Given the description of an element on the screen output the (x, y) to click on. 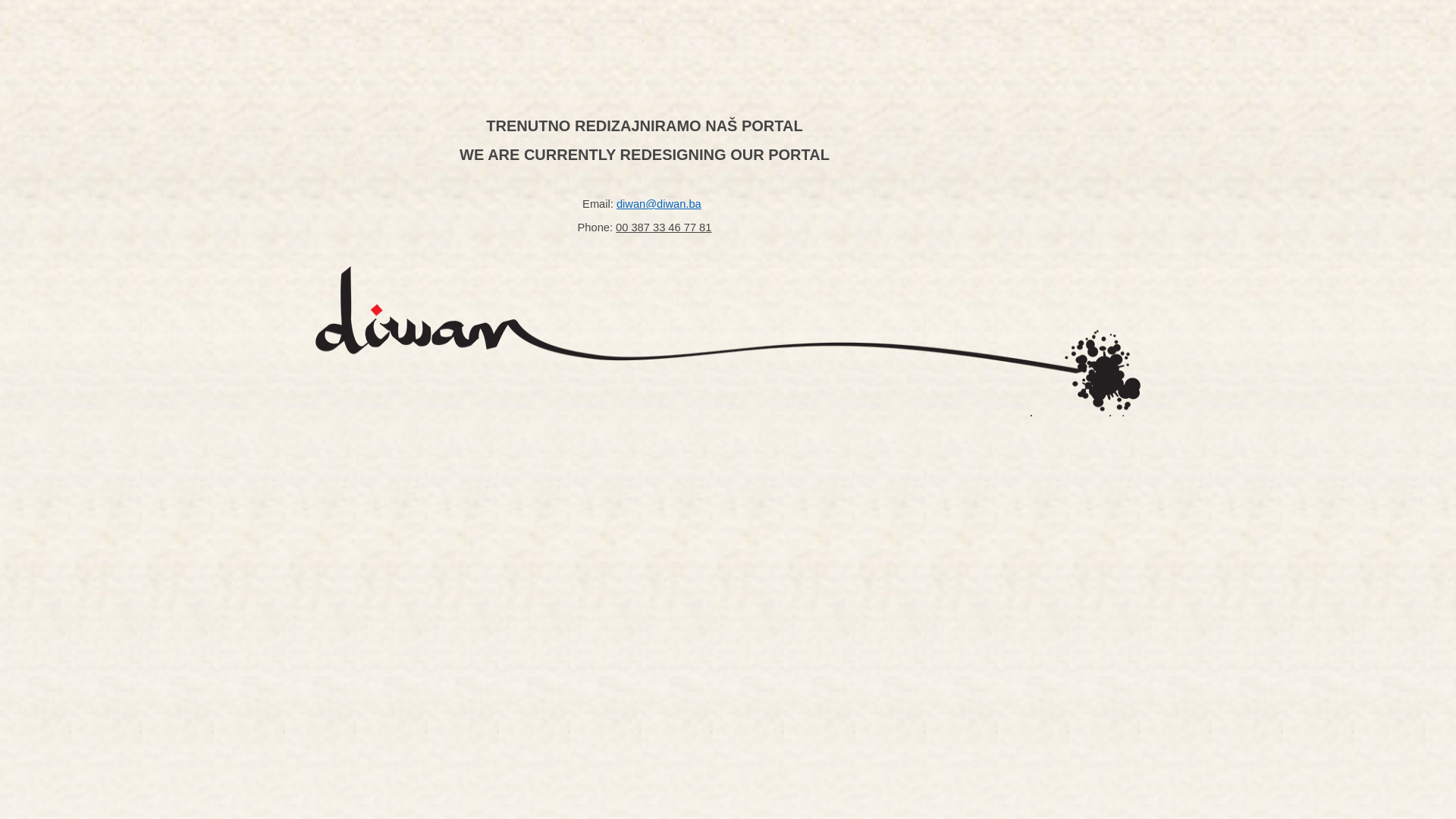
diwan@diwan.ba Element type: text (658, 203)
